Given the description of an element on the screen output the (x, y) to click on. 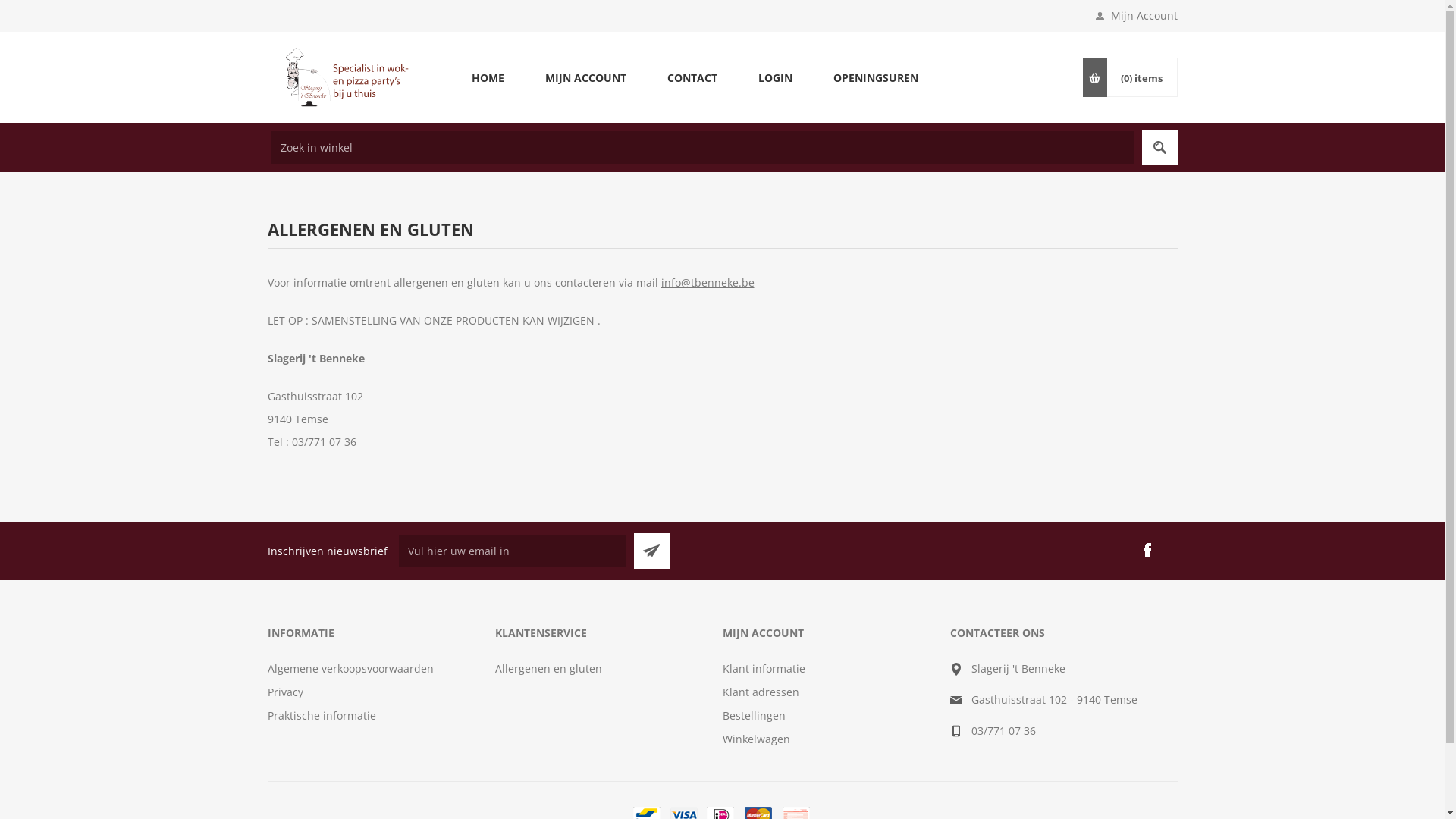
OPENINGSUREN Element type: text (875, 77)
Bestellingen Element type: text (752, 715)
Algemene verkoopsvoorwaarden Element type: text (349, 668)
info@tbenneke.be Element type: text (707, 282)
Privacy Element type: text (284, 691)
Klant adressen Element type: text (759, 691)
Praktische informatie Element type: text (320, 715)
Allergenen en gluten Element type: text (547, 668)
LOGIN Element type: text (774, 77)
MIJN ACCOUNT Element type: text (585, 77)
Klant informatie Element type: text (762, 668)
HOME Element type: text (487, 77)
Winkelwagen Element type: text (755, 738)
(0) items Element type: text (1140, 77)
Search Element type: text (1159, 147)
CONTACT Element type: text (691, 77)
